Given the description of an element on the screen output the (x, y) to click on. 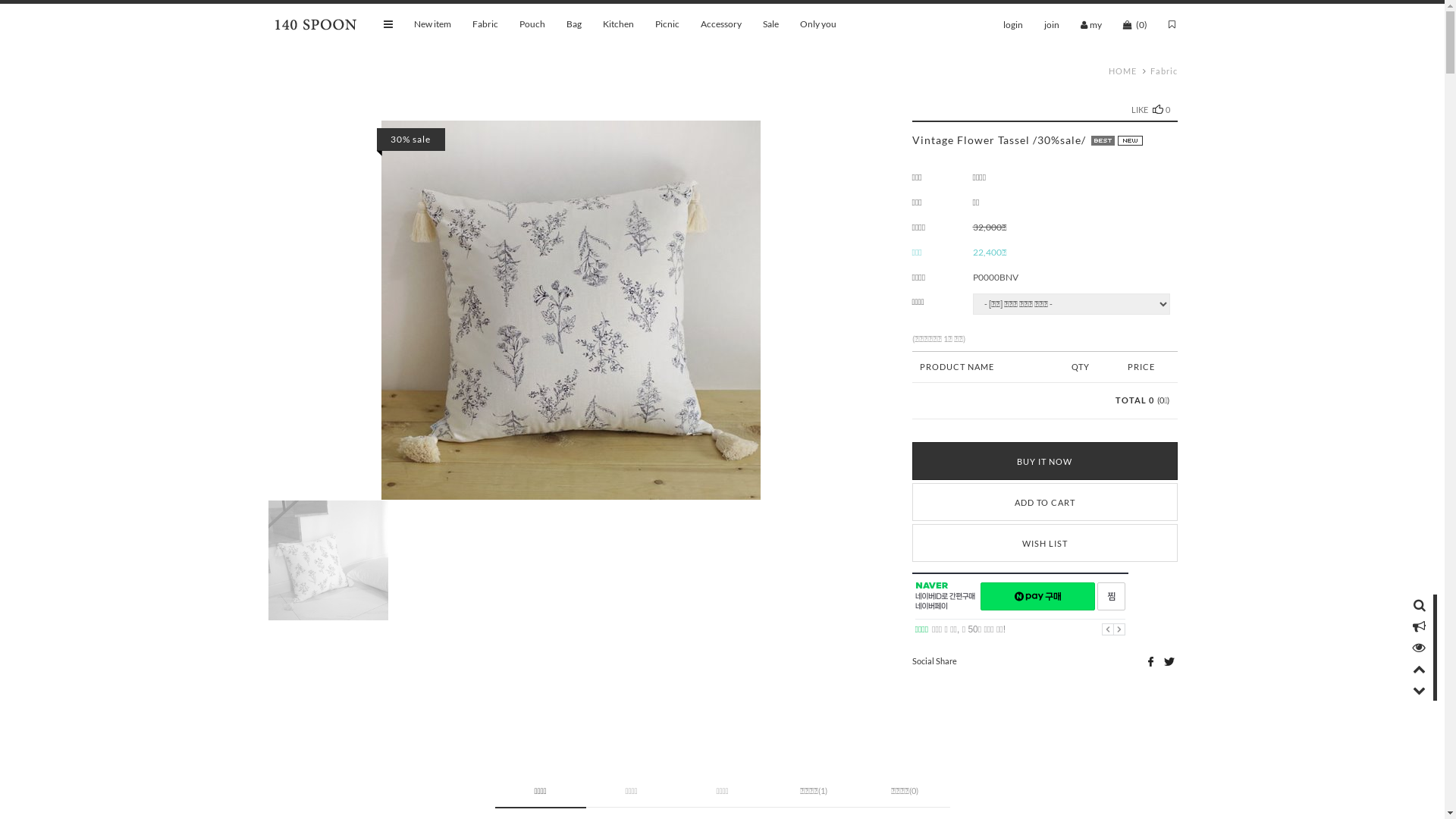
  Element type: text (569, 314)
Pouch Element type: text (531, 24)
New item Element type: text (432, 24)
Fabric Element type: text (1162, 70)
WISH LIST Element type: text (1043, 542)
HOME Element type: text (1122, 70)
ADD TO CART Element type: text (1043, 501)
join Element type: text (1050, 23)
Picnic Element type: text (667, 24)
(0) Element type: text (1134, 23)
BUY IT NOW Element type: text (1043, 460)
Bag Element type: text (572, 24)
Accessory Element type: text (720, 24)
login Element type: text (1012, 23)
Sale Element type: text (770, 24)
Kitchen Element type: text (617, 24)
my Element type: text (1090, 23)
Only you Element type: text (817, 24)
Fabric Element type: text (484, 24)
LIKE0 Element type: text (1150, 109)
